Given the description of an element on the screen output the (x, y) to click on. 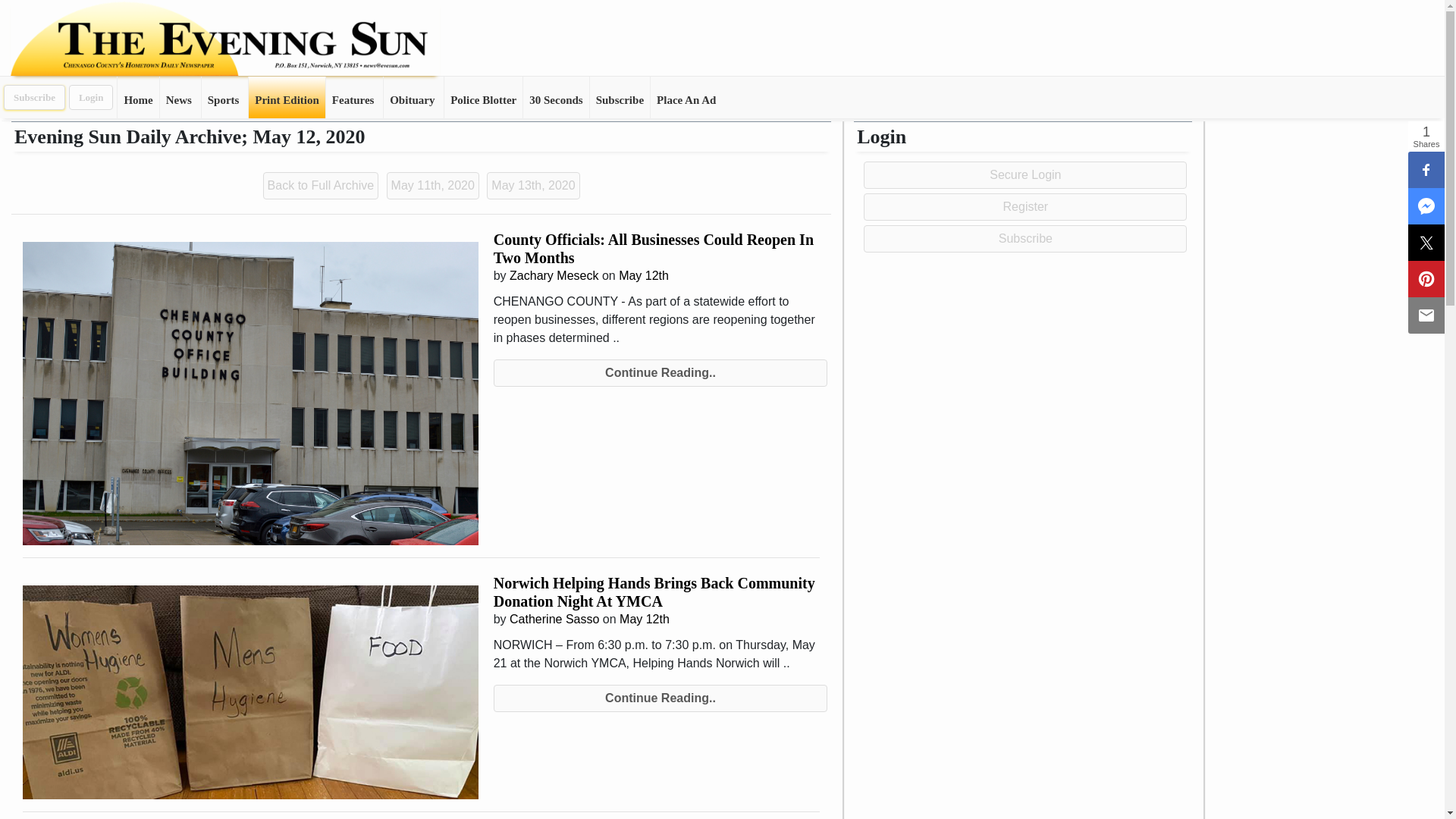
May 11th, 2020 (433, 185)
News (179, 96)
Subscribe (619, 96)
Police Blotter (483, 96)
3rd party ad content (726, 38)
Sports (224, 96)
Login (90, 97)
Obituary (413, 96)
Features (353, 96)
Subscribe (34, 97)
Print Edition (285, 96)
May 11th, 2020 (434, 184)
May 13th, 2020 (532, 184)
Back to Full Archive (322, 184)
Place An Ad (685, 96)
